Given the description of an element on the screen output the (x, y) to click on. 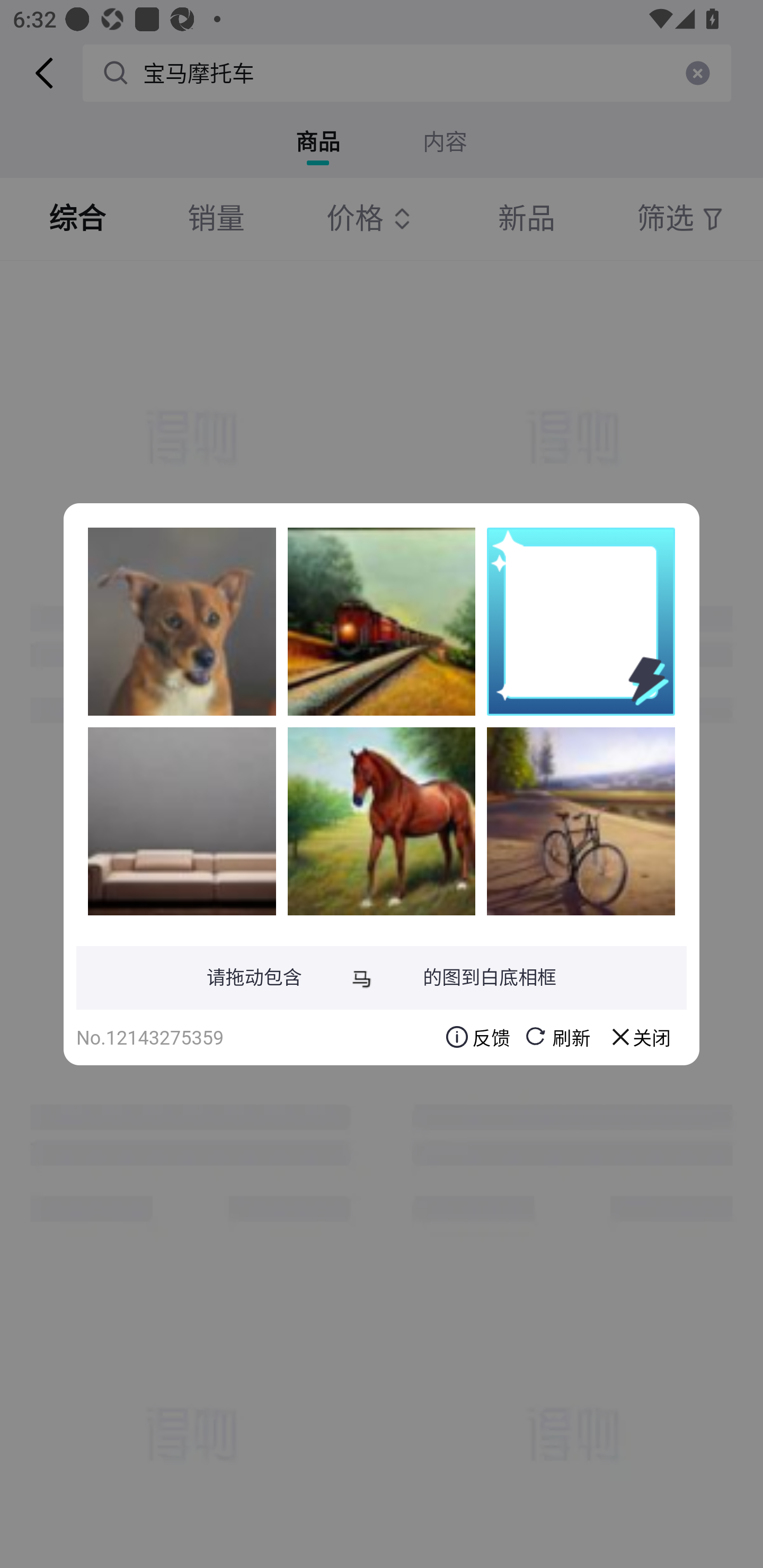
MI7u4K4Mq2BObjLgRNnJKsLl (181, 621)
YE0b8DbVvd1cpFpeT3 (181, 820)
9ZRw9ttpV (381, 820)
D163QEG (580, 820)
